Given the description of an element on the screen output the (x, y) to click on. 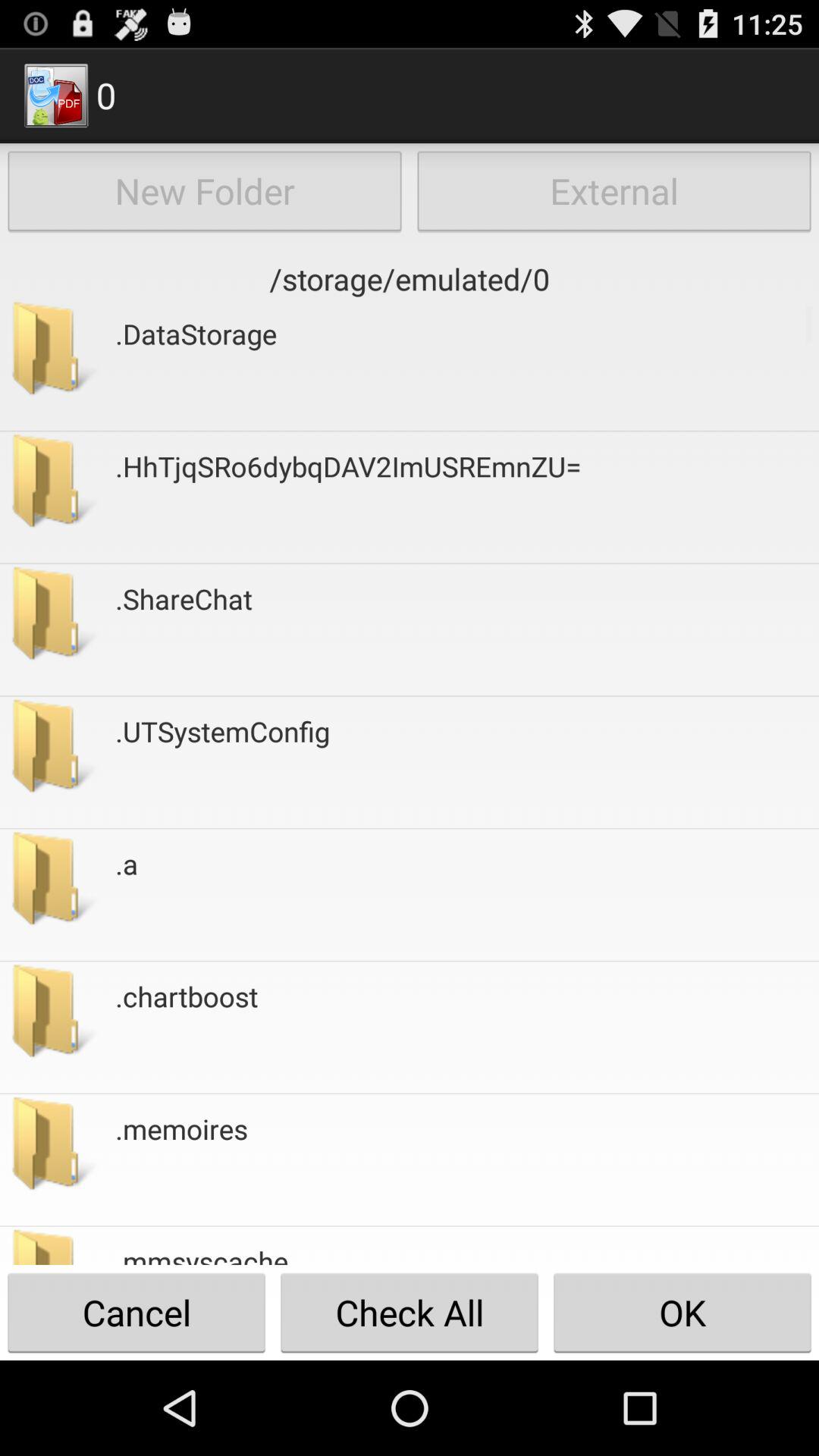
launch the .utsystemconfig icon (222, 762)
